Given the description of an element on the screen output the (x, y) to click on. 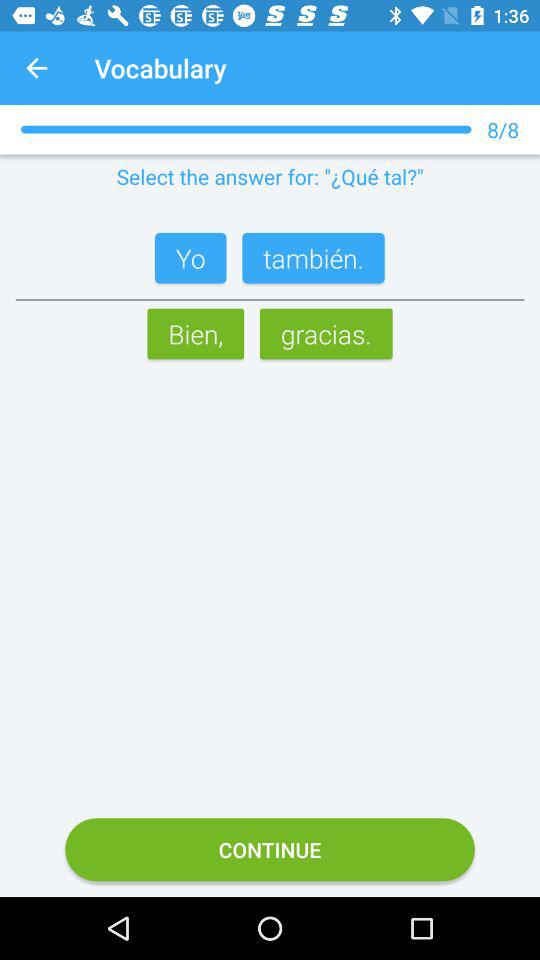
choose app next to the vocabulary app (36, 68)
